Given the description of an element on the screen output the (x, y) to click on. 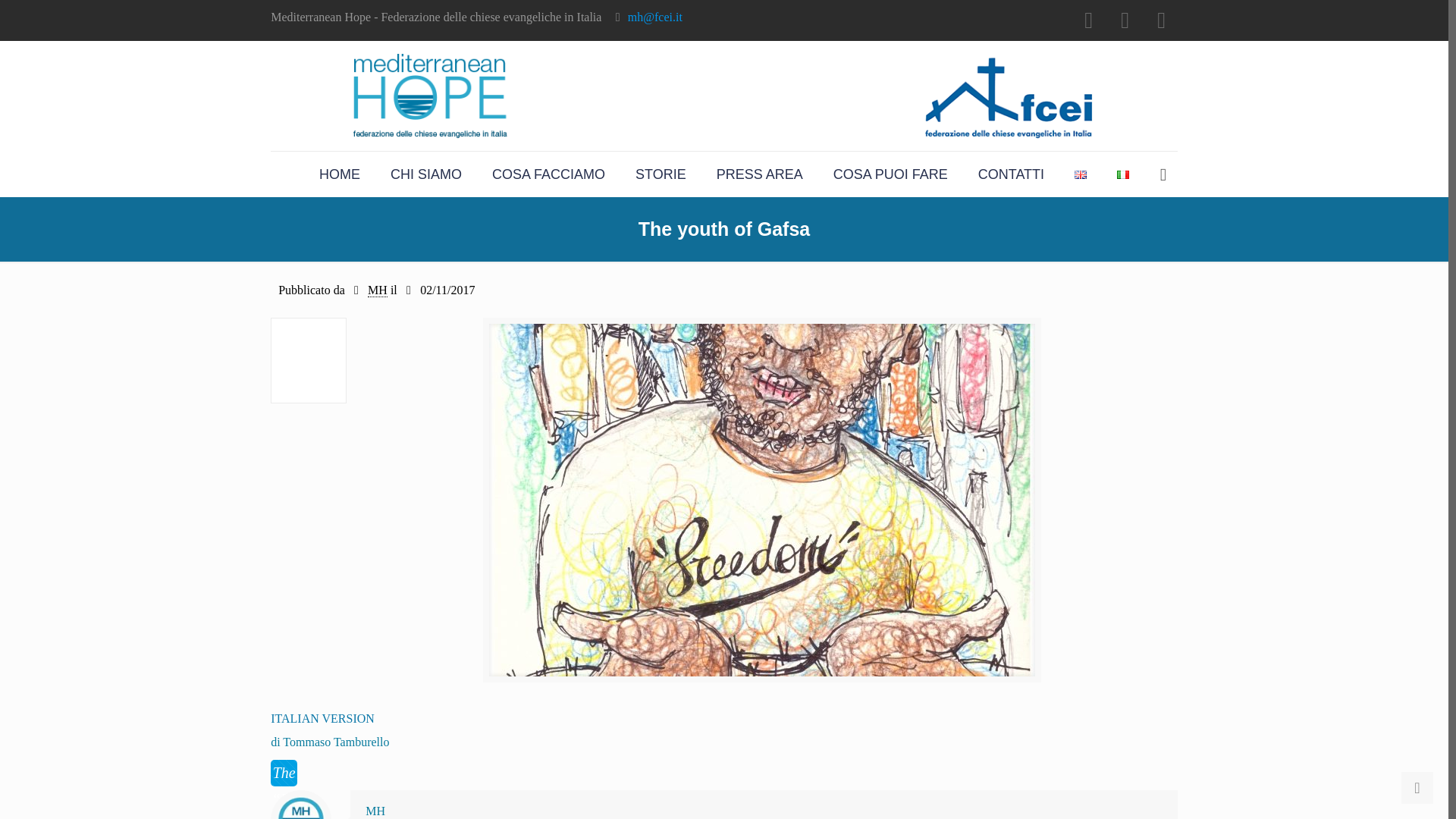
Twitter (1125, 19)
Mediterranean Hope - MH (724, 95)
Instagram (1161, 19)
CONTATTI (1010, 174)
MH (377, 290)
PRESS AREA (759, 174)
Facebook (1089, 19)
COSA PUOI FARE (890, 174)
STORIE (660, 174)
CHI SIAMO (426, 174)
